Given the description of an element on the screen output the (x, y) to click on. 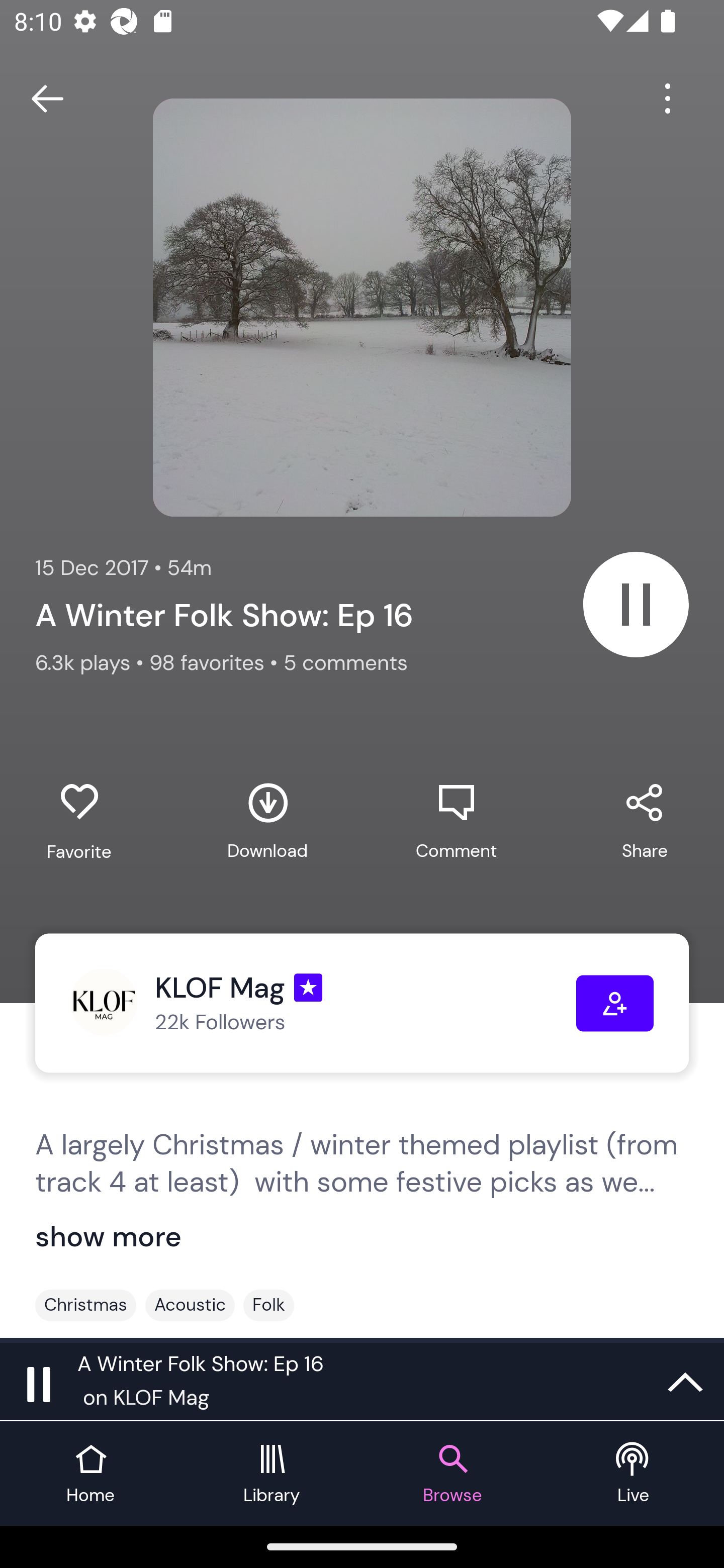
98 favorites •  (216, 662)
5 comments (345, 662)
Favorite (79, 821)
Download (267, 821)
Comment (455, 821)
Share (644, 821)
KLOF Mag, 22k Followers KLOF Mag 22k Followers (323, 1003)
Follow (614, 1003)
Christmas (85, 1304)
Acoustic (189, 1304)
Folk (268, 1304)
Home tab Home (90, 1473)
Library tab Library (271, 1473)
Browse tab Browse (452, 1473)
Live tab Live (633, 1473)
